Given the description of an element on the screen output the (x, y) to click on. 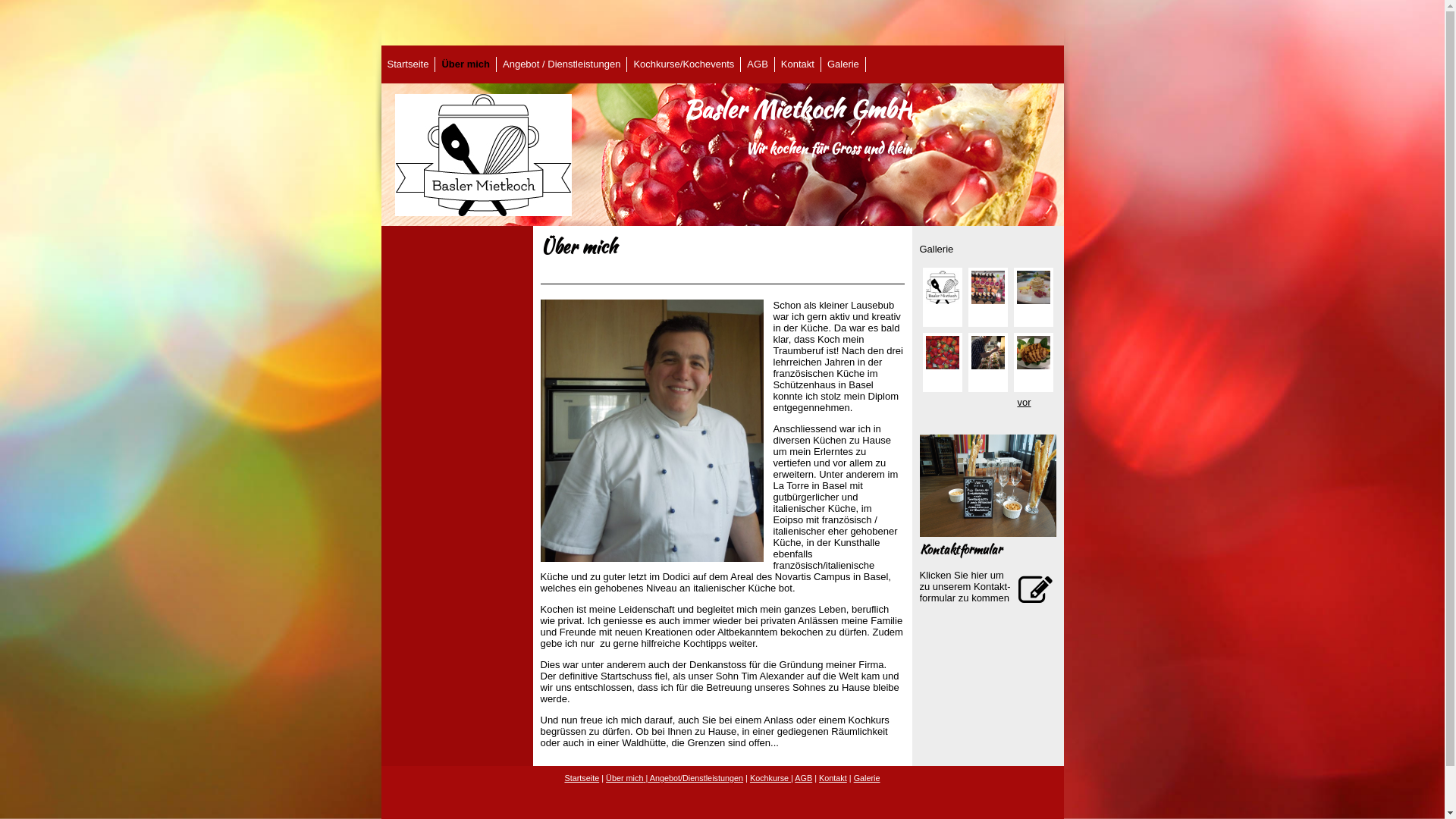
Kochkurse/Kochevents Element type: text (683, 64)
Angebot/Dienstleistungen Element type: text (695, 777)
AGB Element type: text (803, 777)
  Element type: text (987, 296)
Kontakt Element type: text (797, 64)
AGB Element type: text (756, 64)
Galerie Element type: text (866, 777)
Galerie Element type: text (843, 64)
  Element type: text (941, 296)
Kochkurse Element type: text (769, 777)
  Element type: text (1032, 362)
  Element type: text (987, 362)
Angebot / Dienstleistungen Element type: text (561, 64)
Startseite Element type: text (407, 64)
Kontakt Element type: text (833, 777)
  Element type: text (1032, 296)
  Element type: text (941, 362)
Startseite Element type: text (581, 777)
vor Element type: text (1023, 401)
